Given the description of an element on the screen output the (x, y) to click on. 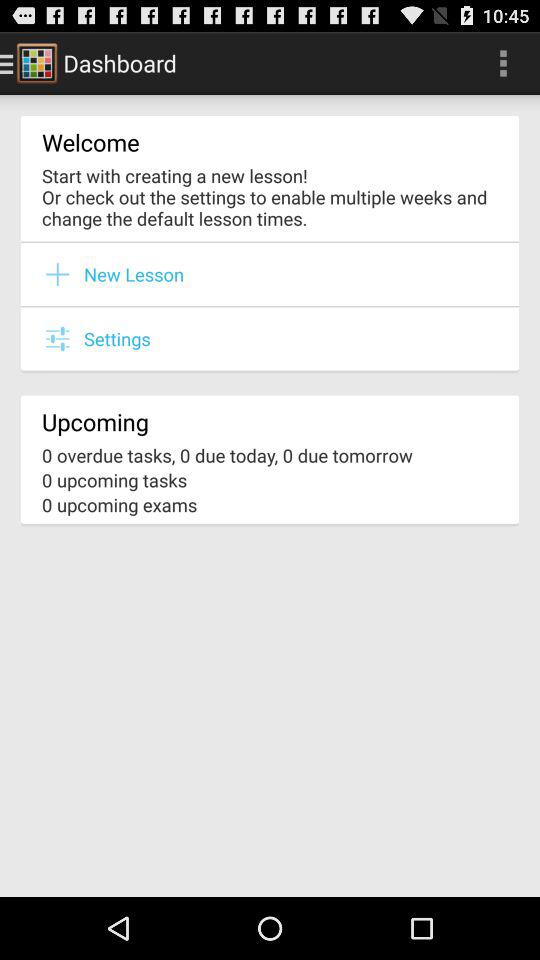
click item below the start with creating icon (270, 241)
